Given the description of an element on the screen output the (x, y) to click on. 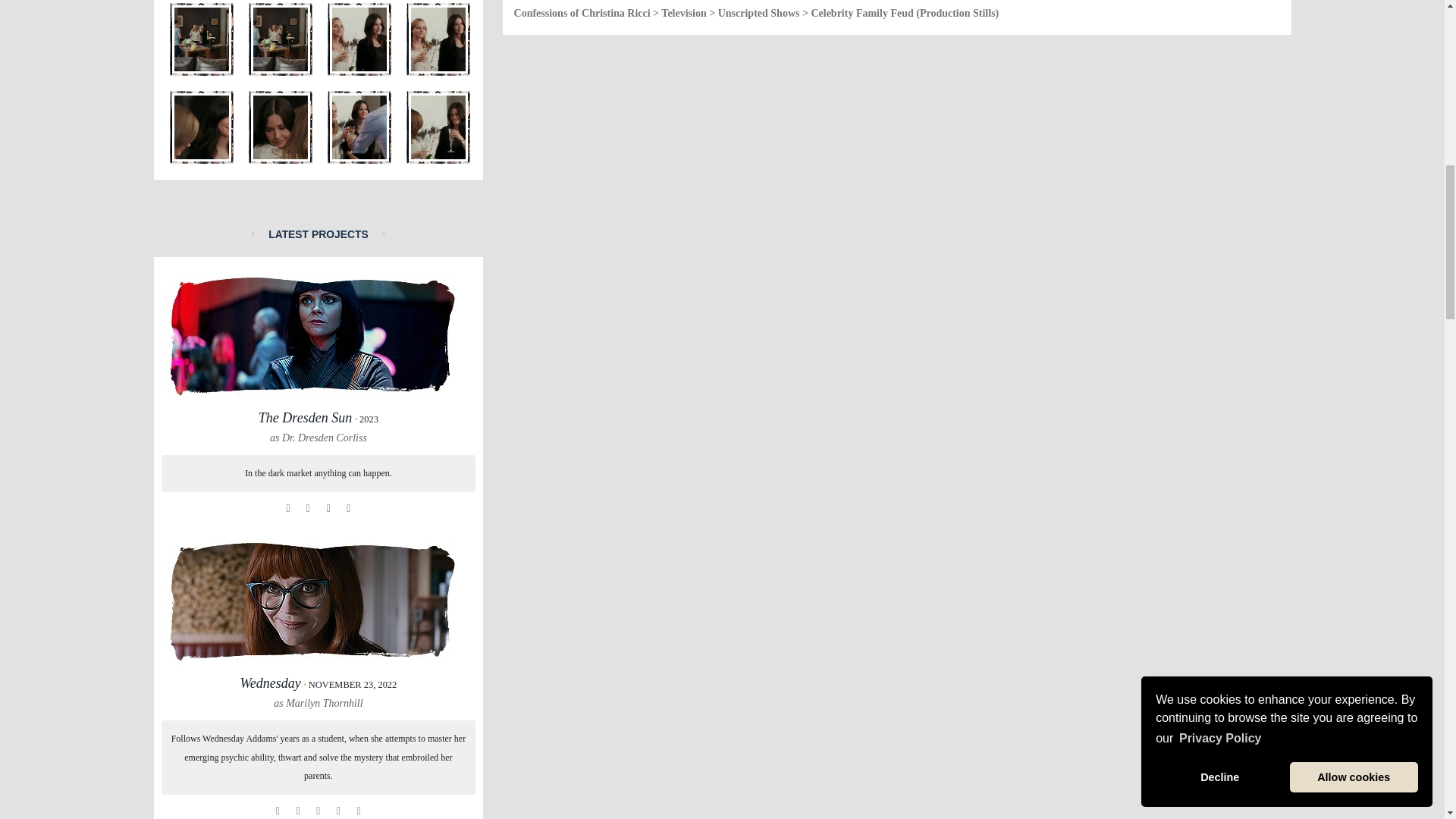
0475.jpg (280, 39)
0466.jpg (438, 126)
0469.jpg (438, 39)
0468.jpg (359, 39)
0465.jpg (359, 126)
0464.jpg (280, 126)
0474.jpg (201, 39)
0470.jpg (201, 126)
